Given the description of an element on the screen output the (x, y) to click on. 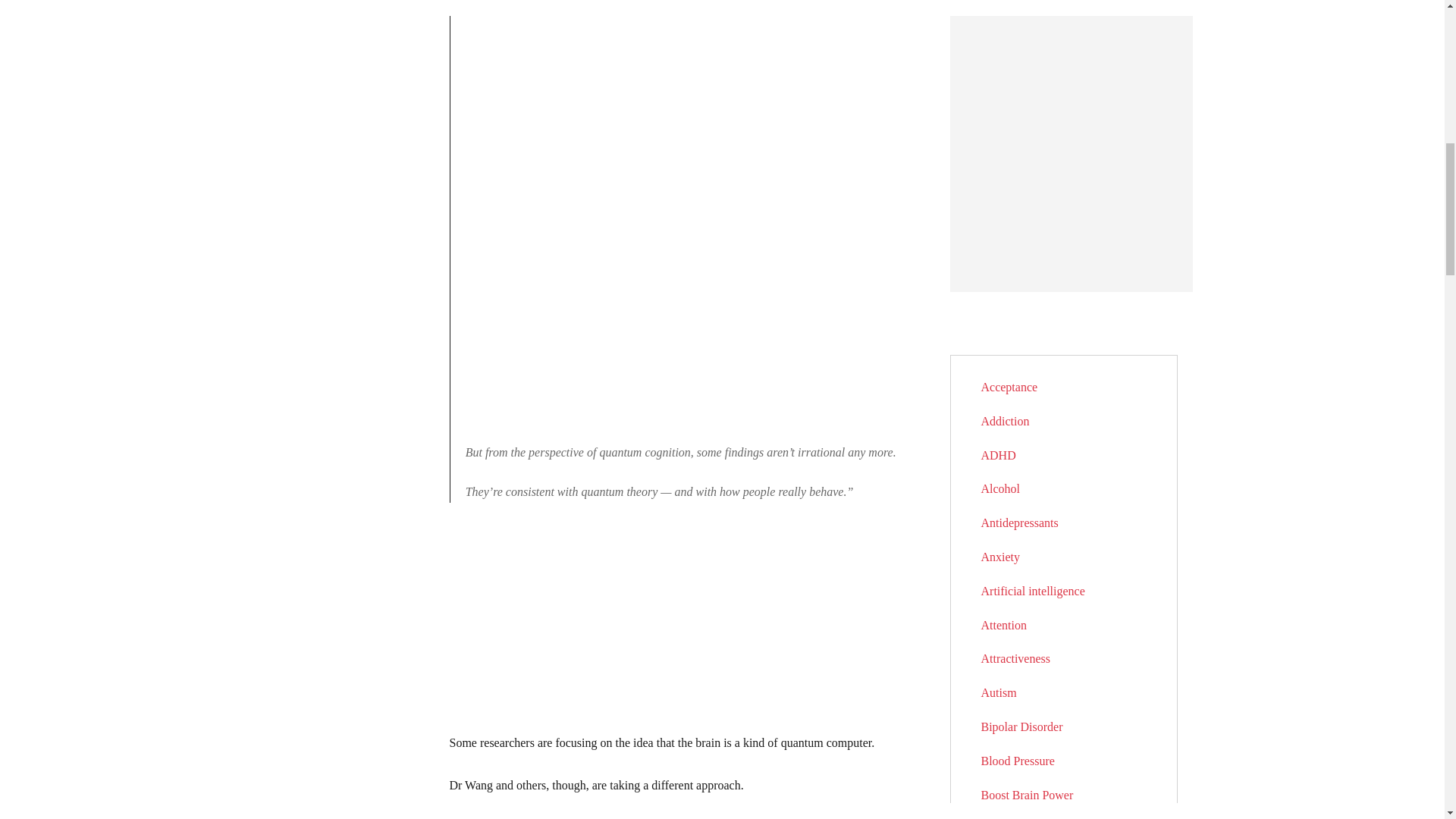
Autism (998, 692)
Blood Pressure (1017, 760)
Alcohol (1000, 488)
Advertisement (676, 626)
Attention (1003, 625)
Anxiety (1000, 556)
Attractiveness (1016, 658)
Artificial intelligence (1032, 590)
Antidepressants (1019, 522)
Boost Brain Power (1027, 794)
